Given the description of an element on the screen output the (x, y) to click on. 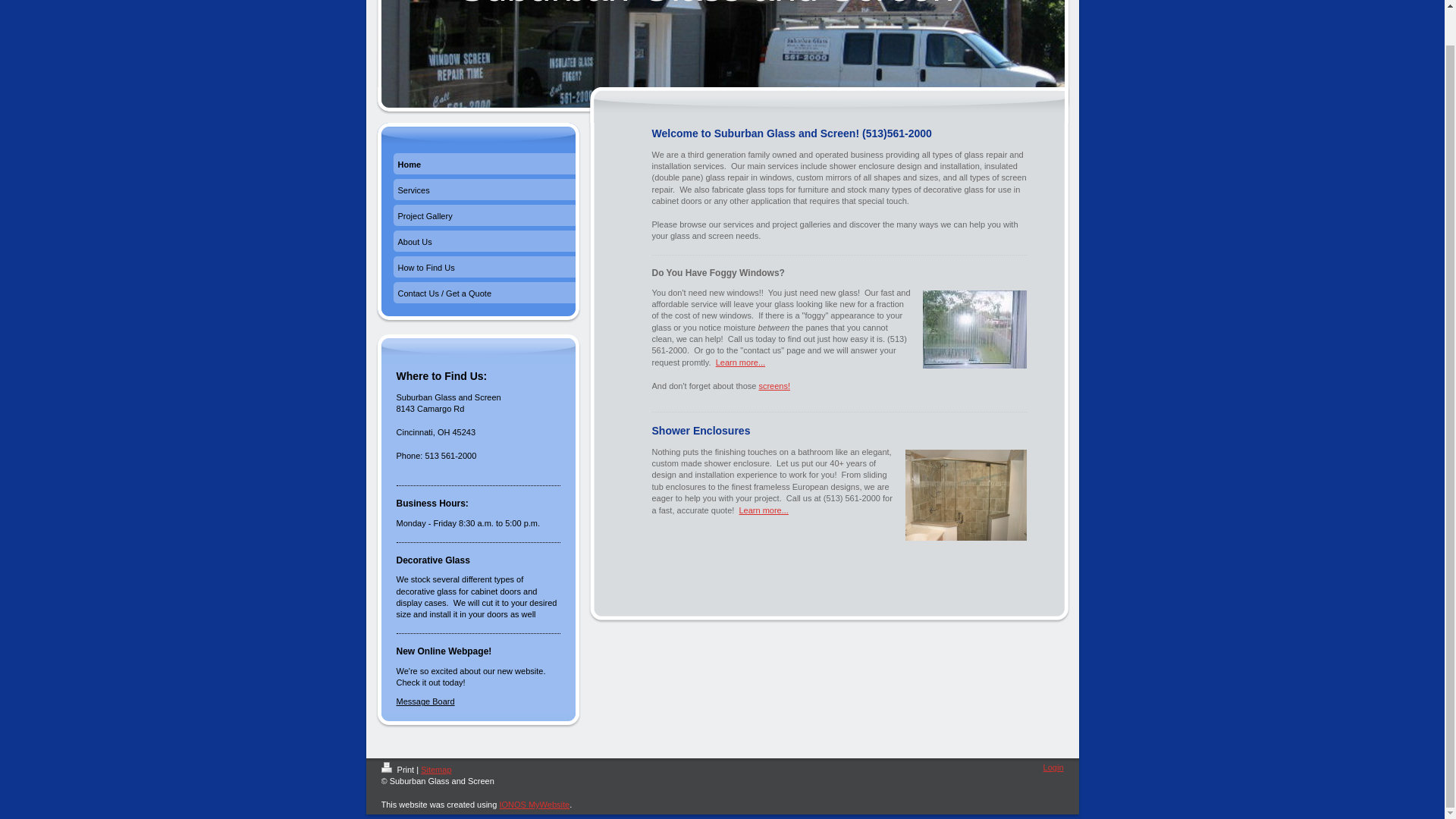
Services (484, 191)
Project Gallery (484, 217)
About Us (484, 243)
screens! (774, 385)
IONOS MyWebsite (534, 804)
Sitemap (435, 768)
Home (484, 166)
Learn more... (762, 510)
Message Board (425, 700)
Suburban Glass and Screen (705, 5)
Print (398, 768)
How to Find Us (484, 268)
Learn more... (740, 361)
Login (1053, 767)
